Given the description of an element on the screen output the (x, y) to click on. 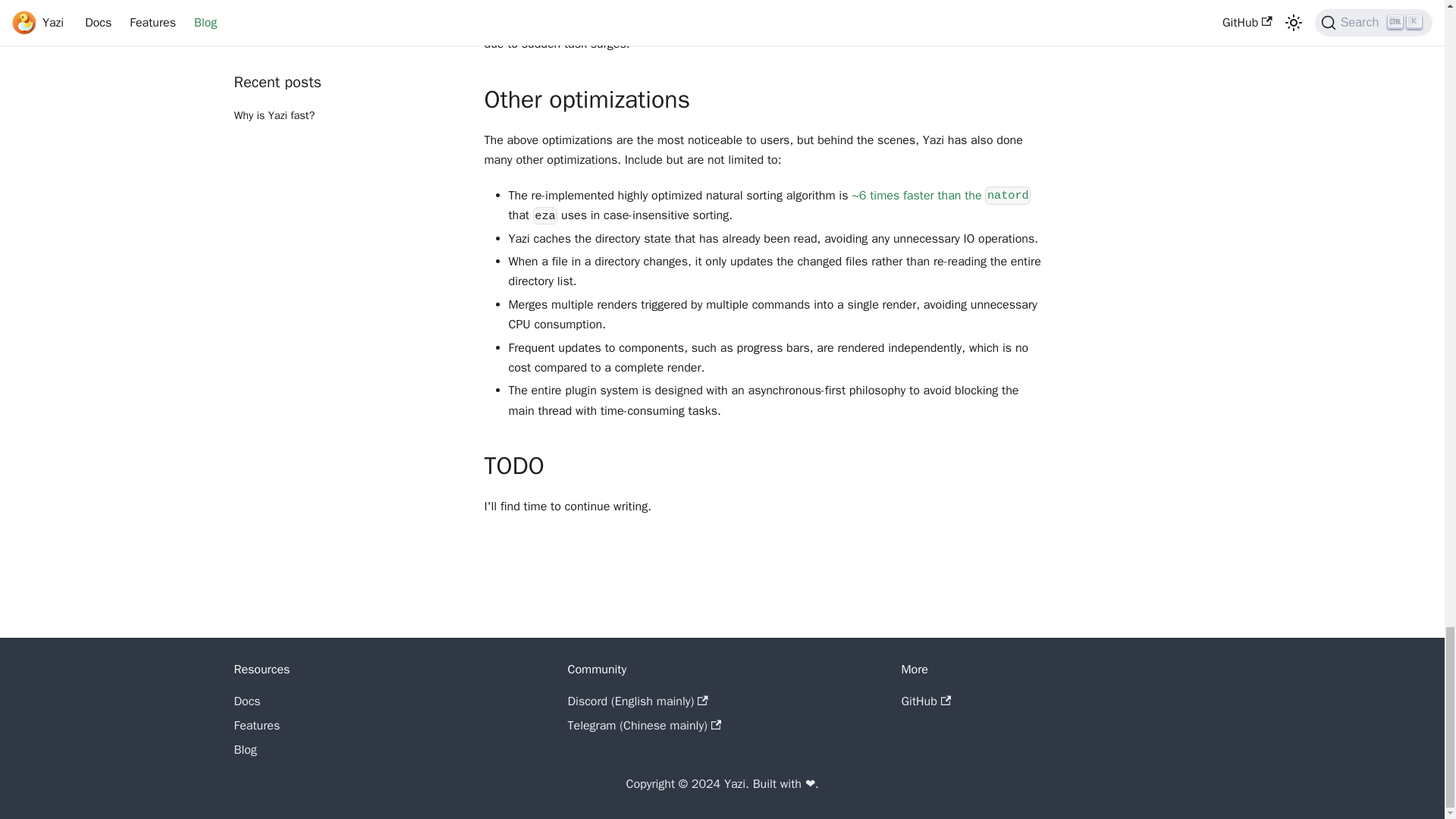
Blog (244, 749)
Docs (246, 701)
GitHub (925, 701)
Features (255, 725)
